Given the description of an element on the screen output the (x, y) to click on. 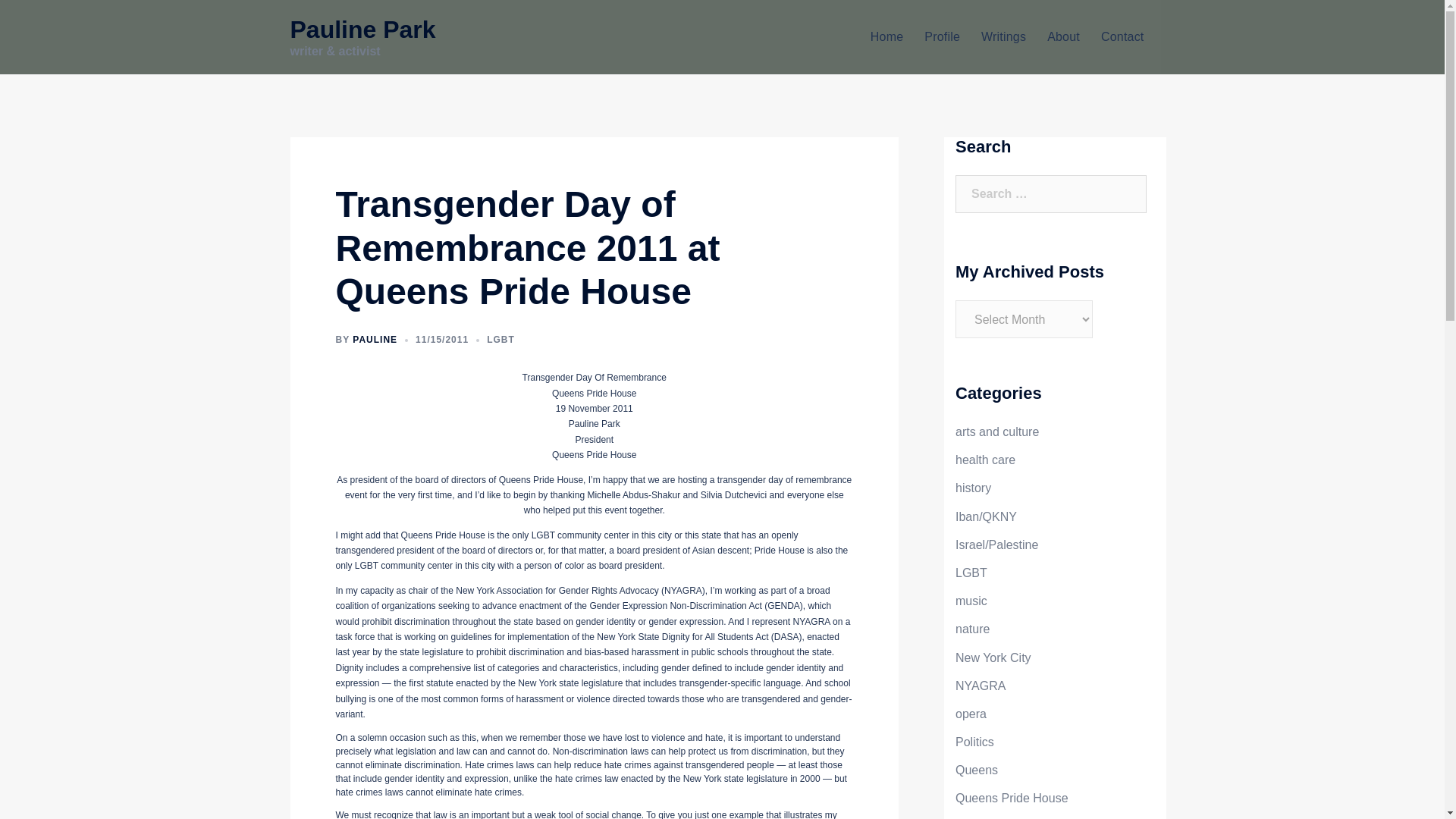
Writings (1003, 36)
Politics (974, 741)
music (971, 600)
Queens (976, 769)
Home (886, 36)
PAULINE (374, 339)
LGBT (971, 572)
NYAGRA (980, 685)
Profile (941, 36)
Queens Pride House (1011, 797)
